Given the description of an element on the screen output the (x, y) to click on. 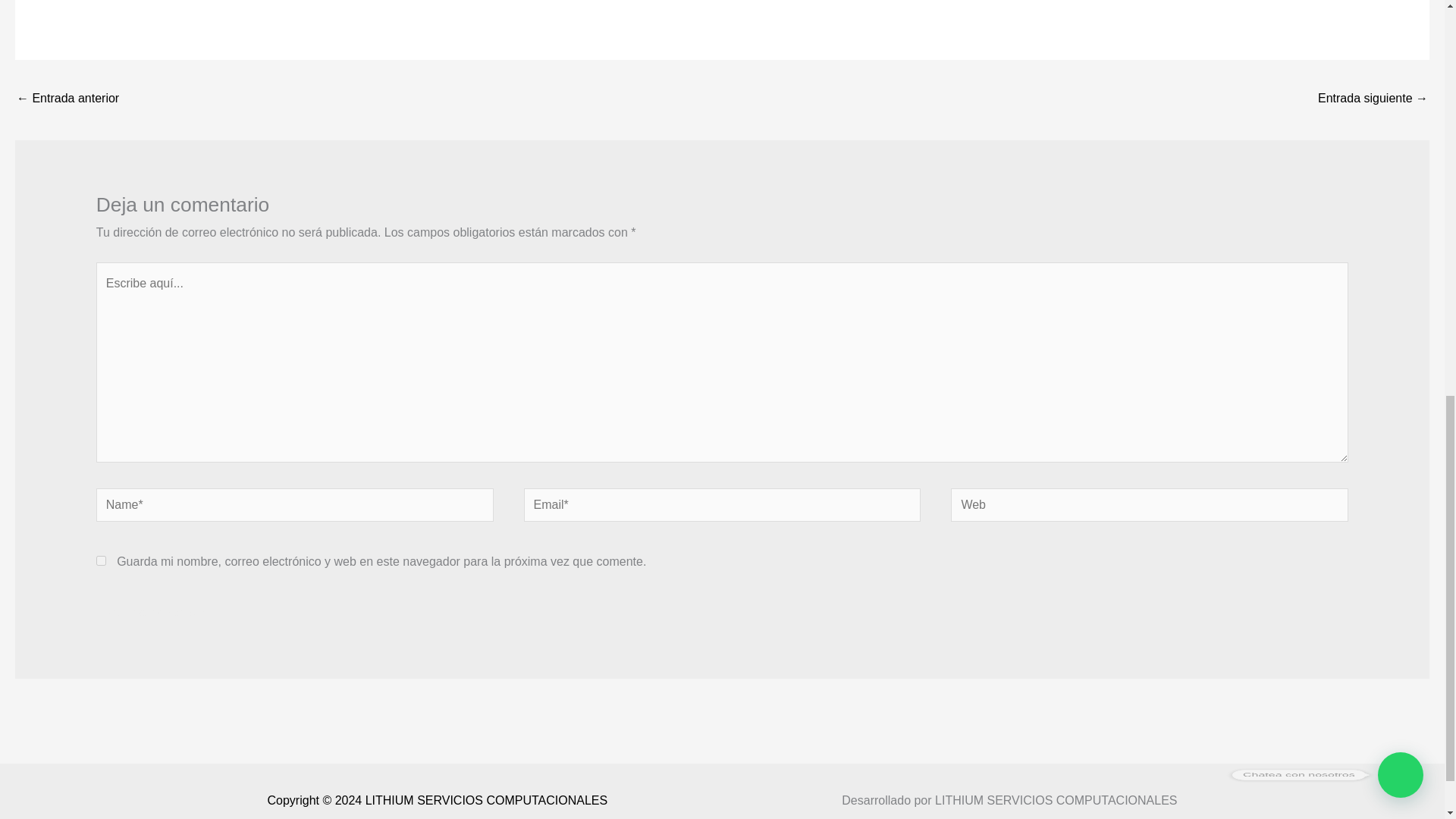
yes (101, 560)
